Given the description of an element on the screen output the (x, y) to click on. 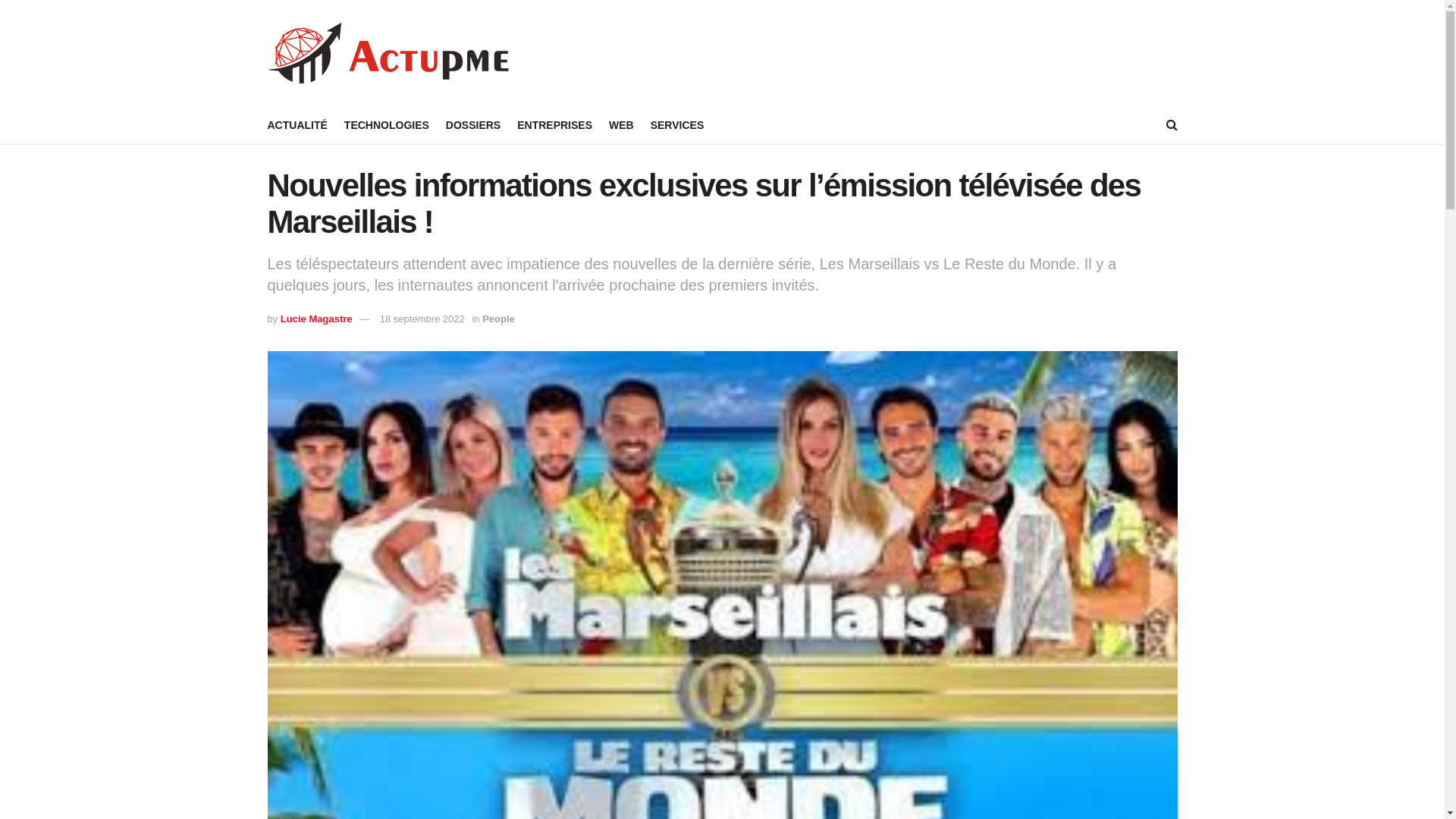
ENTREPRISES Element type: text (554, 124)
People Element type: text (498, 318)
TECHNOLOGIES Element type: text (386, 124)
WEB Element type: text (620, 124)
SERVICES Element type: text (677, 124)
DOSSIERS Element type: text (472, 124)
18 septembre 2022 Element type: text (421, 318)
Lucie Magastre Element type: text (316, 318)
